Given the description of an element on the screen output the (x, y) to click on. 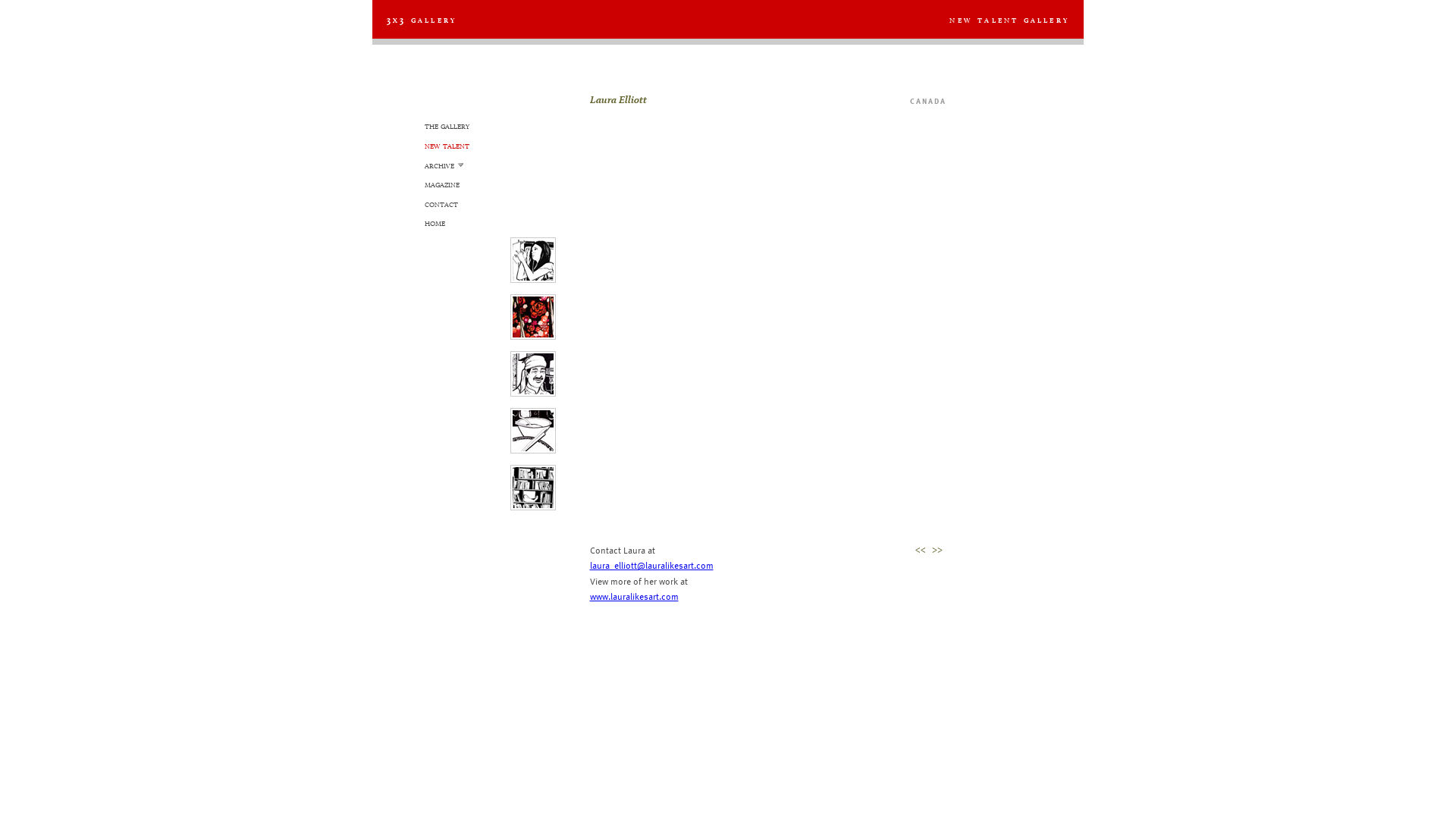
www.lauralikesart.com Element type: text (633, 595)
the gallery Element type: text (446, 125)
laura_elliott@lauralikesart.com Element type: text (651, 564)
new talent Element type: text (446, 144)
>> Element type: text (938, 548)
magazine Element type: text (441, 183)
home Element type: text (434, 222)
contact Element type: text (441, 203)
<< Element type: text (921, 548)
